Given the description of an element on the screen output the (x, y) to click on. 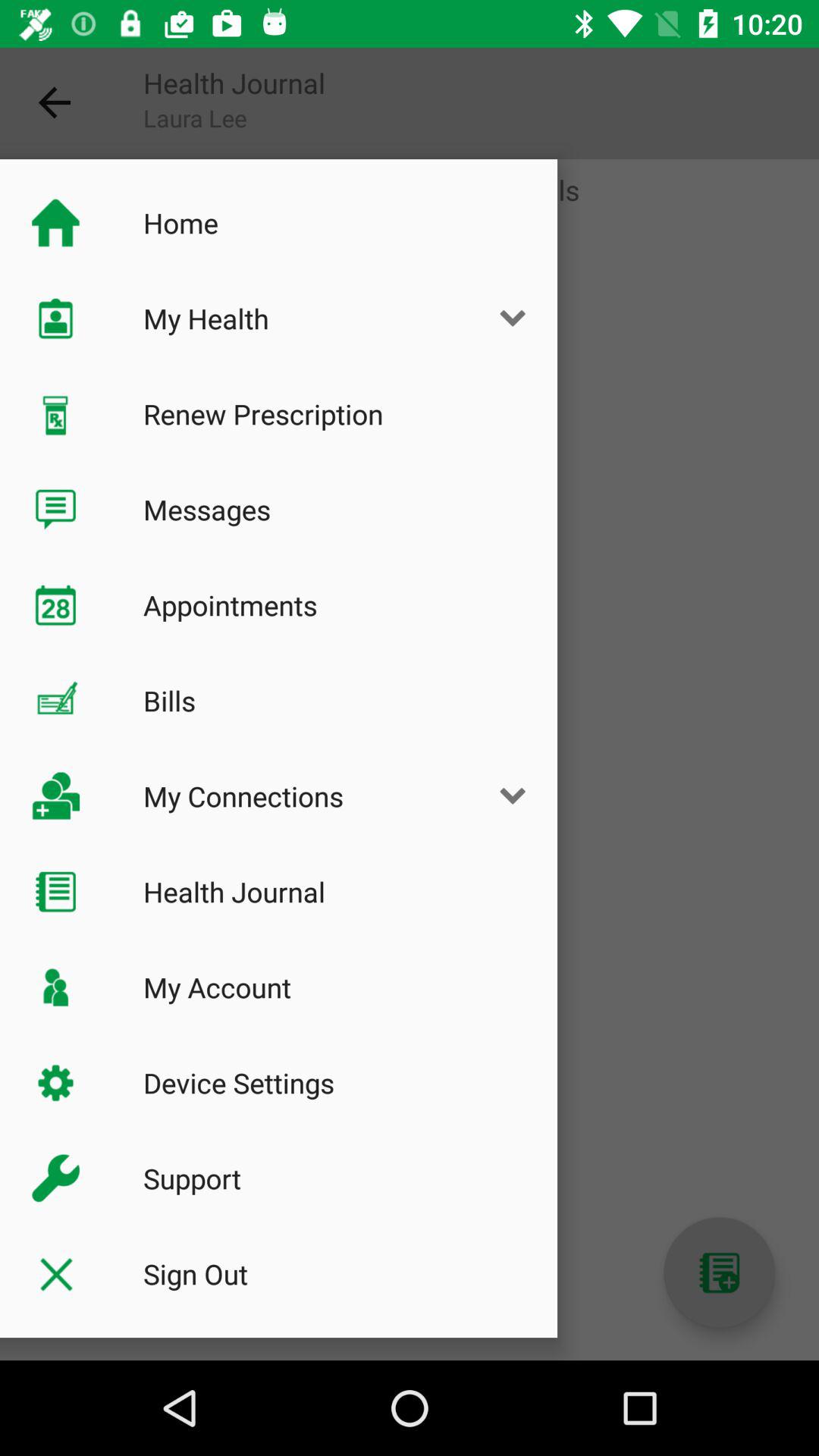
add contact (719, 1272)
